Given the description of an element on the screen output the (x, y) to click on. 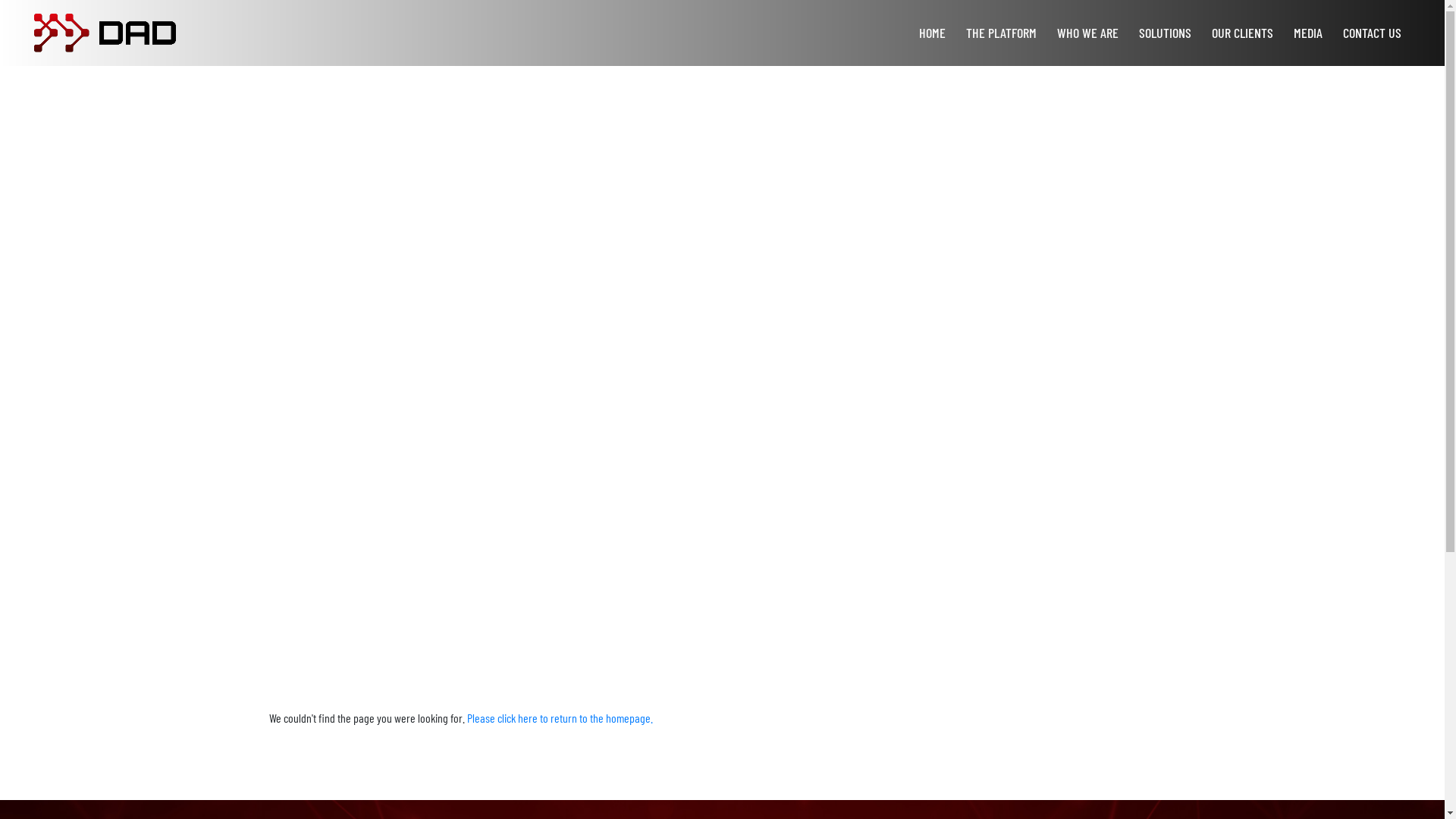
THE PLATFORM Element type: text (1001, 32)
OUR CLIENTS Element type: text (1242, 32)
MEDIA Element type: text (1307, 32)
HOME Element type: text (932, 32)
WHO WE ARE Element type: text (1087, 32)
CONTACT US Element type: text (1372, 32)
SOLUTIONS Element type: text (1165, 32)
Please click here to return to the homepage. Element type: text (559, 717)
